Given the description of an element on the screen output the (x, y) to click on. 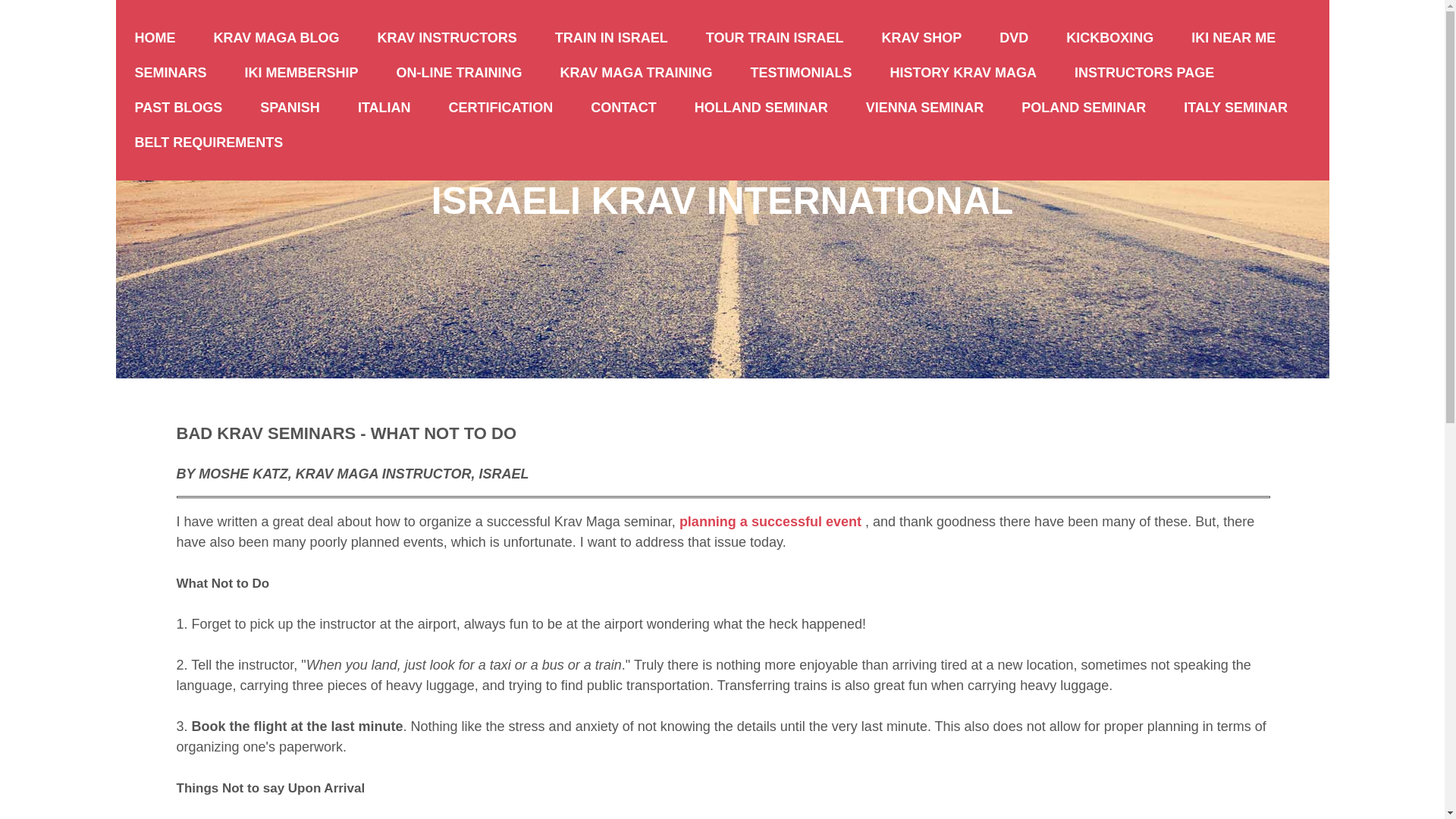
TOUR TRAIN ISRAEL (775, 37)
DVD (1012, 37)
KICKBOXING (1109, 37)
HISTORY KRAV MAGA (962, 72)
SPANISH (290, 107)
CERTIFICATION (500, 107)
POLAND SEMINAR (1083, 107)
ITALIAN (384, 107)
SEMINARS (170, 72)
IKI NEAR ME (1233, 37)
TRAIN IN ISRAEL (611, 37)
KRAV MAGA BLOG (275, 37)
ITALY SEMINAR (1235, 107)
planning a successful event (770, 521)
TESTIMONIALS (801, 72)
